Given the description of an element on the screen output the (x, y) to click on. 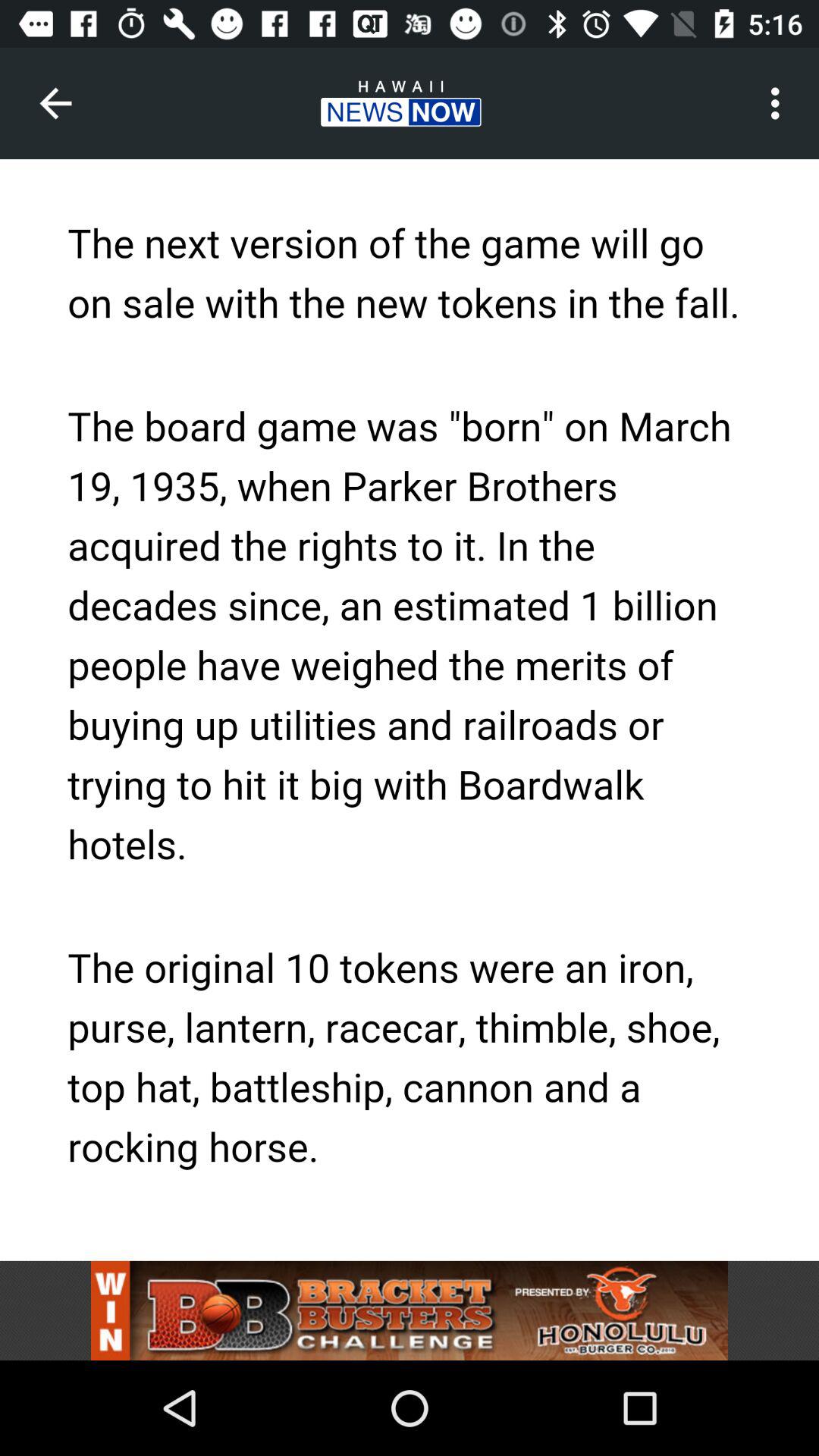
clickable advertisement (409, 1310)
